Given the description of an element on the screen output the (x, y) to click on. 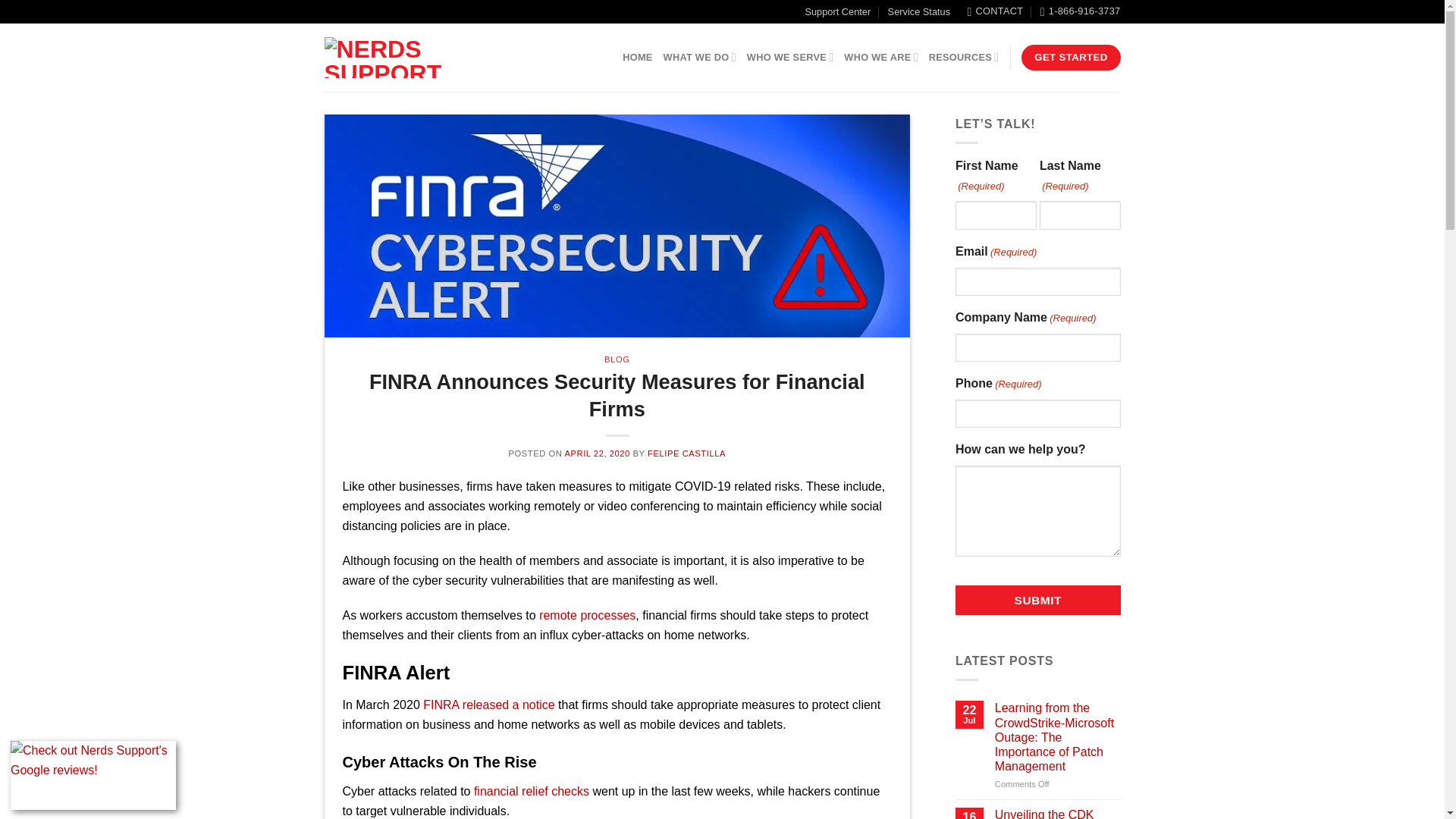
WHAT WE DO (699, 57)
BLOG (616, 358)
RESOURCES (963, 57)
Unveiling the CDK Global Hack: A Cybersecurity Perspective (1057, 813)
Support Center (837, 11)
Nerds Support, Inc. - Proactive Approach To Technology (432, 57)
Service Status (919, 11)
APRIL 22, 2020 (596, 452)
1-866-916-3737 (1081, 11)
GET STARTED (1070, 57)
Submit (1038, 600)
CONTACT (995, 11)
HOME (637, 57)
WHO WE SERVE (790, 57)
